Given the description of an element on the screen output the (x, y) to click on. 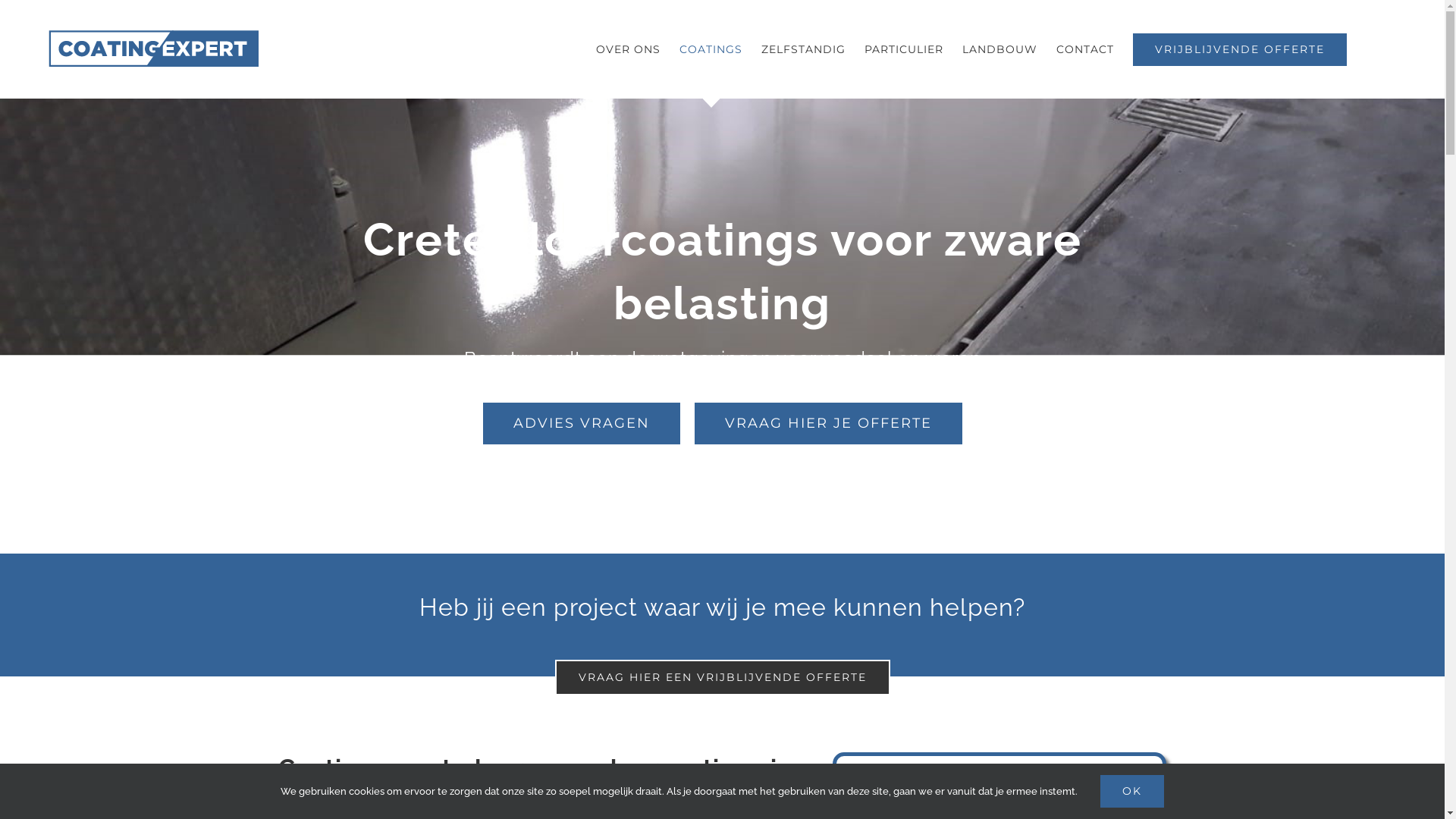
PARTICULIER Element type: text (903, 49)
COATINGS Element type: text (710, 49)
CONTACT Element type: text (1084, 49)
OVER ONS Element type: text (628, 49)
VRAAG HIER JE OFFERTE Element type: text (828, 423)
OK Element type: text (1132, 791)
VRAAG HIER EEN VRIJBLIJVENDE OFFERTE Element type: text (722, 677)
ADVIES VRAGEN Element type: text (580, 423)
VRIJBLIJVENDE OFFERTE Element type: text (1239, 49)
LANDBOUW Element type: text (999, 49)
ZELFSTANDIG Element type: text (803, 49)
